Given the description of an element on the screen output the (x, y) to click on. 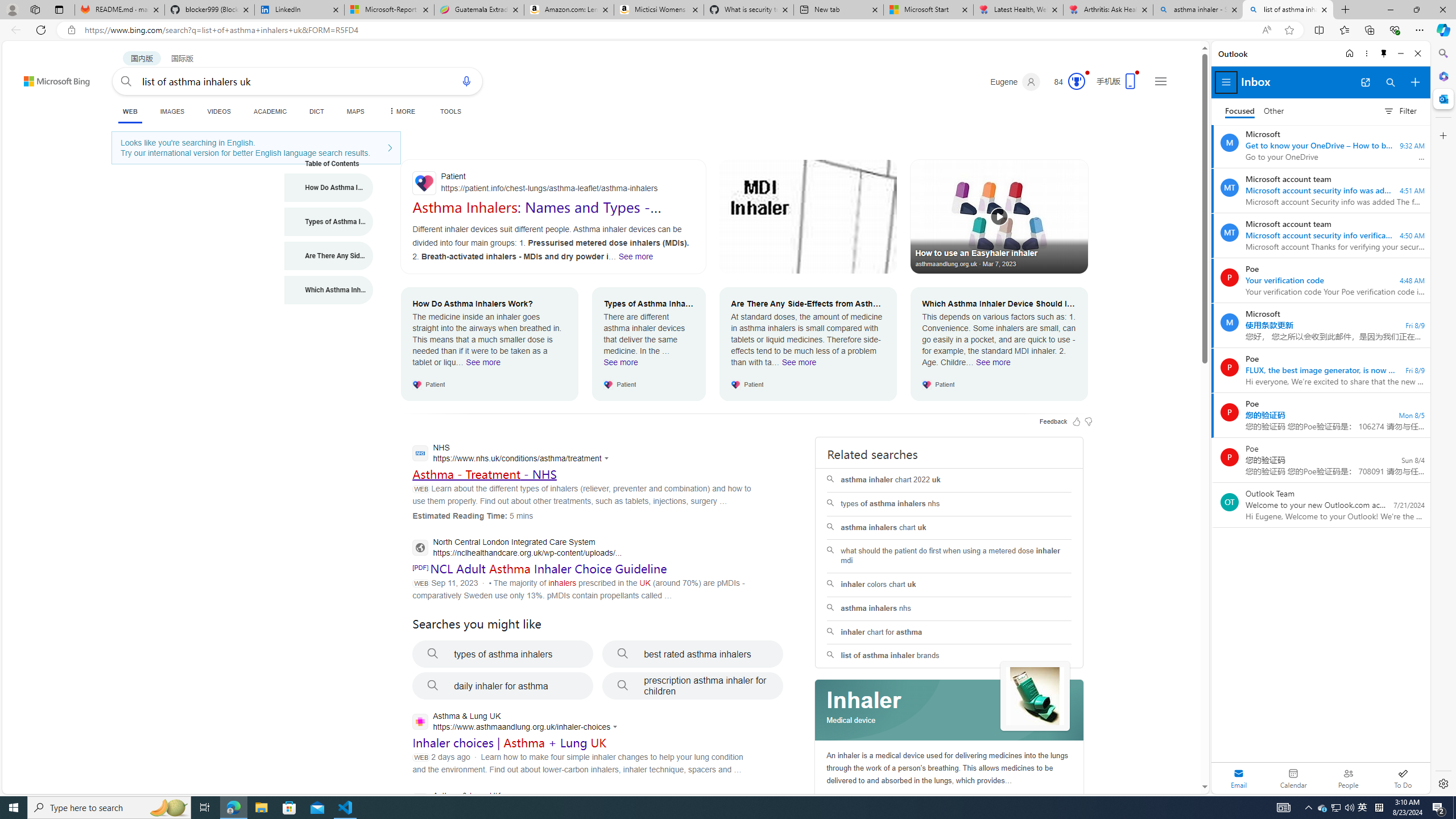
ACADEMIC (269, 111)
Microsoft Rewards 84 (1065, 81)
asthma inhalers chart uk (949, 527)
Other (1273, 110)
Back to Bing search (50, 78)
How to use an Easyhaler inhaler (999, 216)
